Given the description of an element on the screen output the (x, y) to click on. 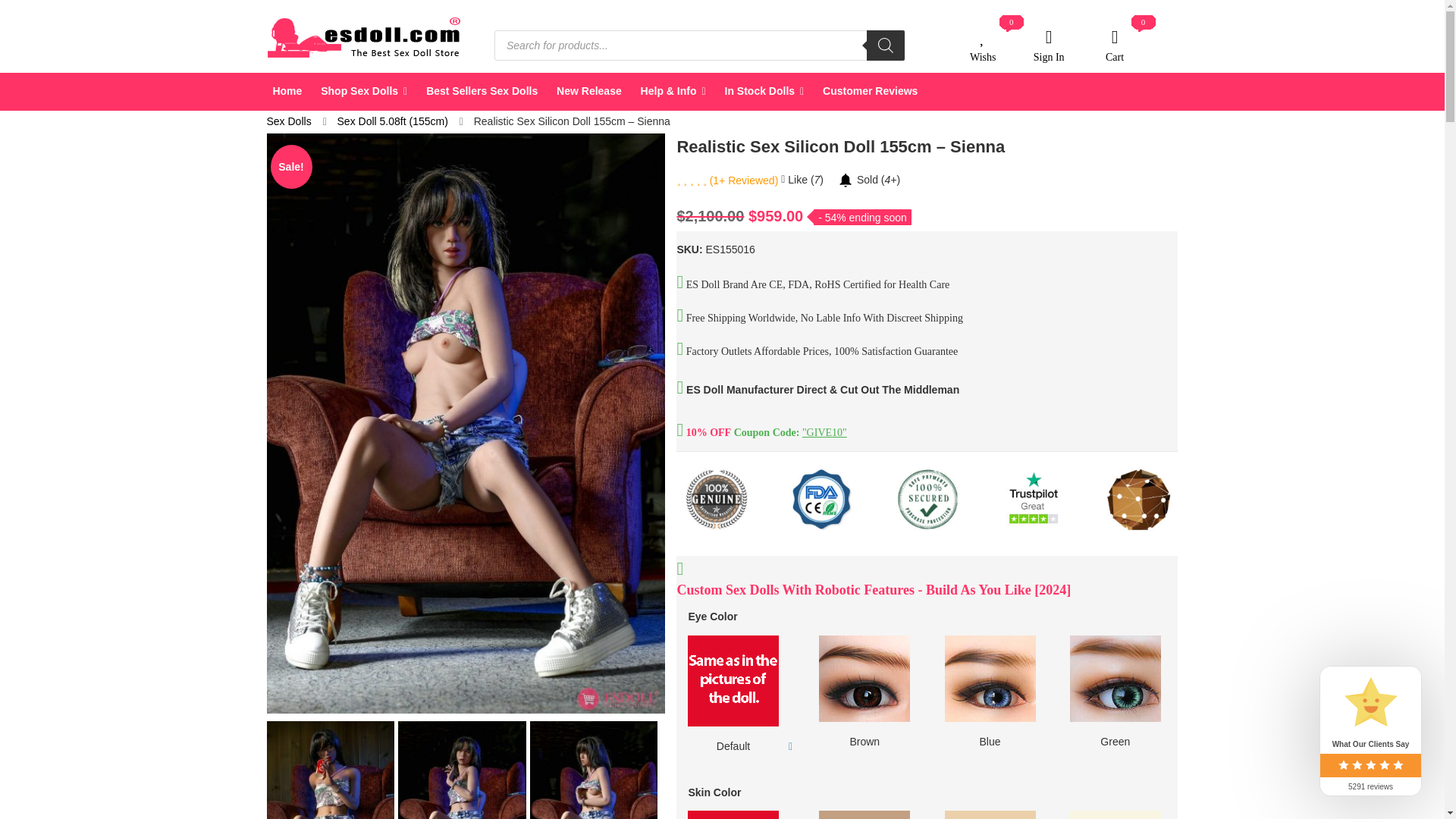
Home (285, 91)
My Account (1048, 44)
Add to favorites (983, 44)
esdoll.com (365, 37)
 Home (285, 91)
Shop Sex Dolls (983, 44)
Sign In (363, 91)
Shop Sex Dolls (1048, 44)
